Given the description of an element on the screen output the (x, y) to click on. 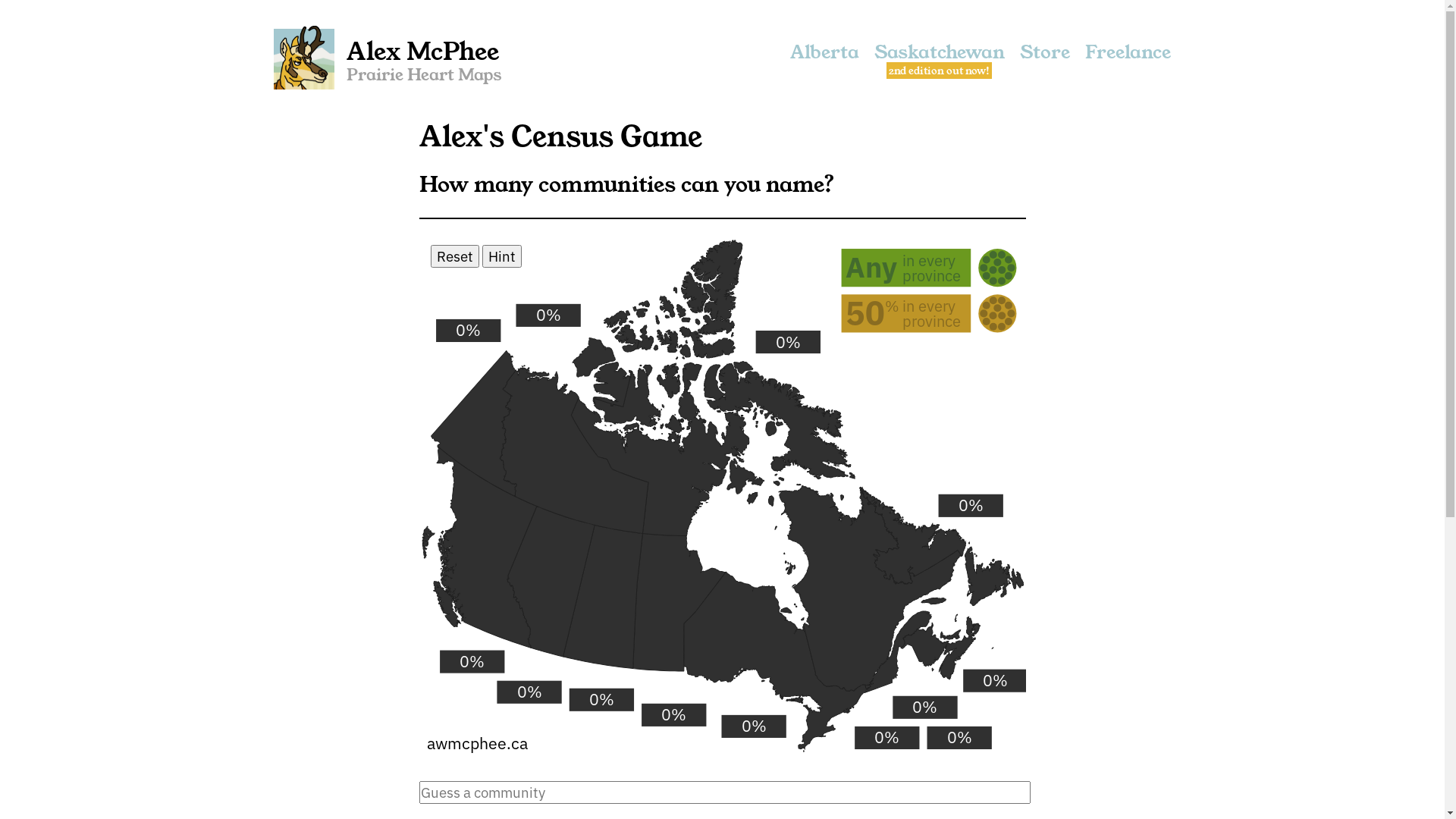
Freelance Element type: text (1127, 58)
Alberta Element type: text (824, 58)
Alex McPhee
Prairie Heart Maps Element type: text (387, 59)
Reset Element type: text (454, 255)
Saskatchewan
2nd edition out now! Element type: text (939, 58)
Hint Element type: text (501, 255)
Store Element type: text (1044, 58)
